Given the description of an element on the screen output the (x, y) to click on. 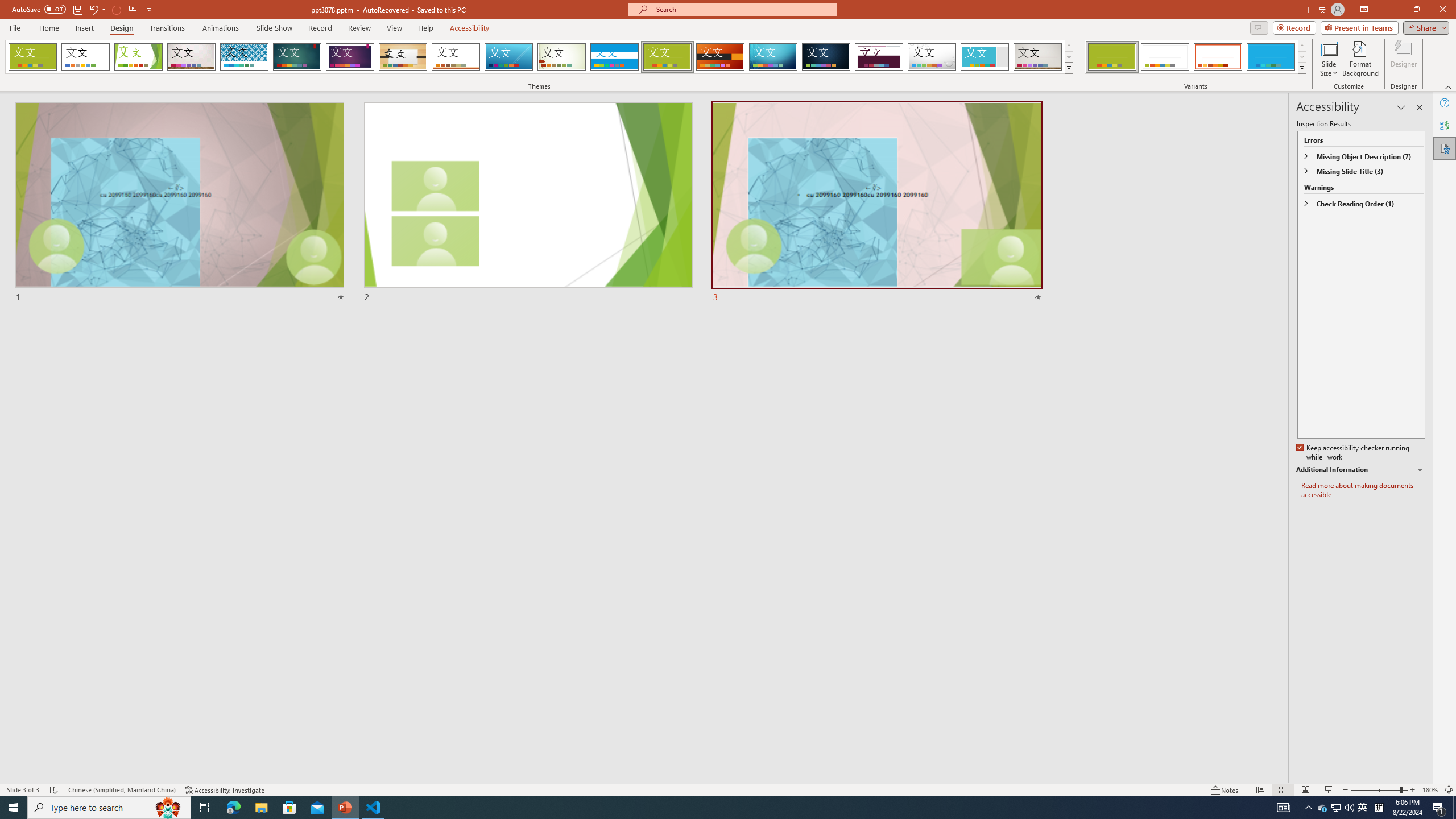
Droplet (931, 56)
Office Theme (85, 56)
Basis Variant 4 (1270, 56)
Integral (244, 56)
